Given the description of an element on the screen output the (x, y) to click on. 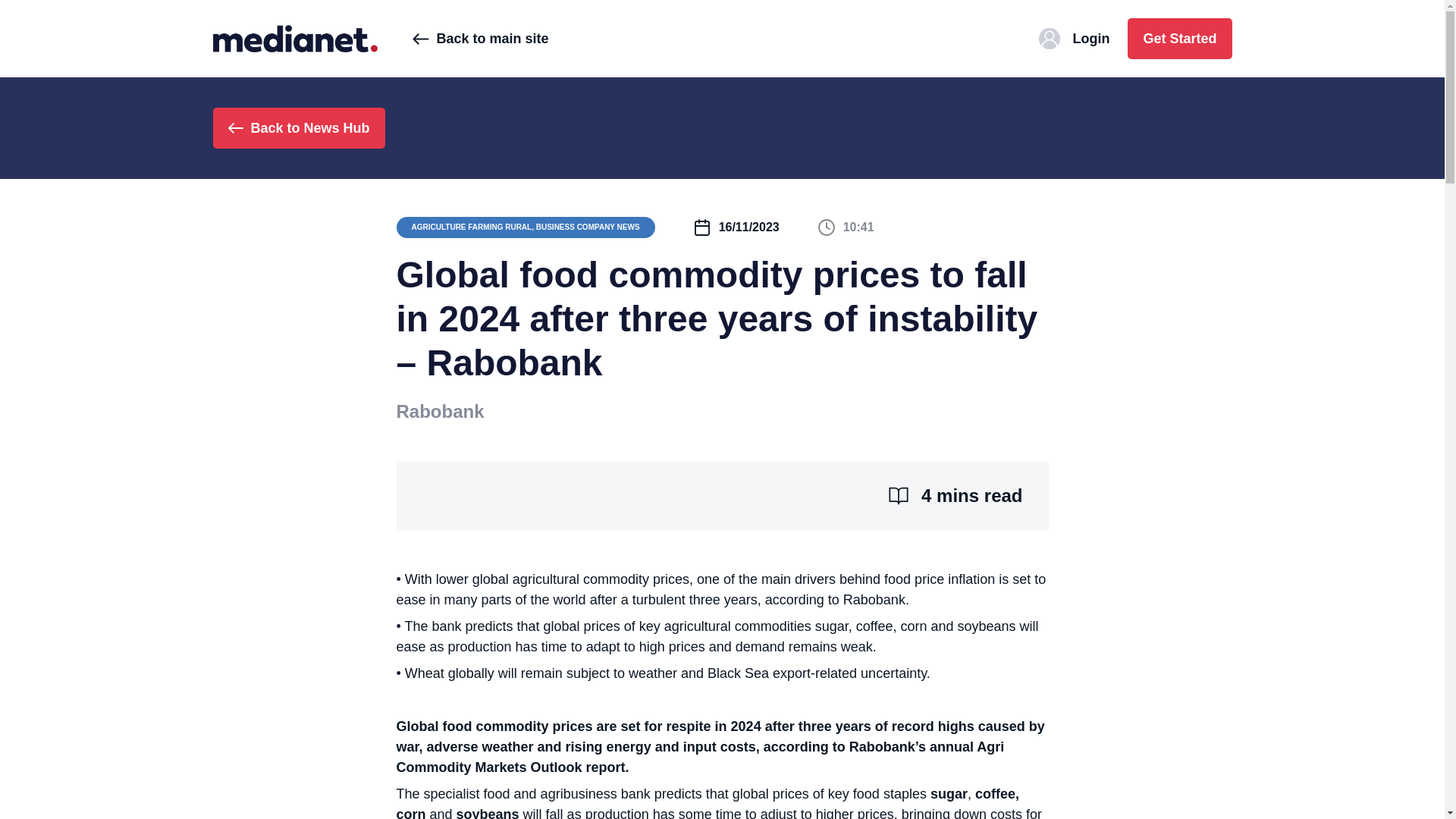
Login (1074, 38)
Back to main site (480, 38)
Back to News Hub (298, 127)
News Hub (294, 38)
Get Started (1178, 38)
